Given the description of an element on the screen output the (x, y) to click on. 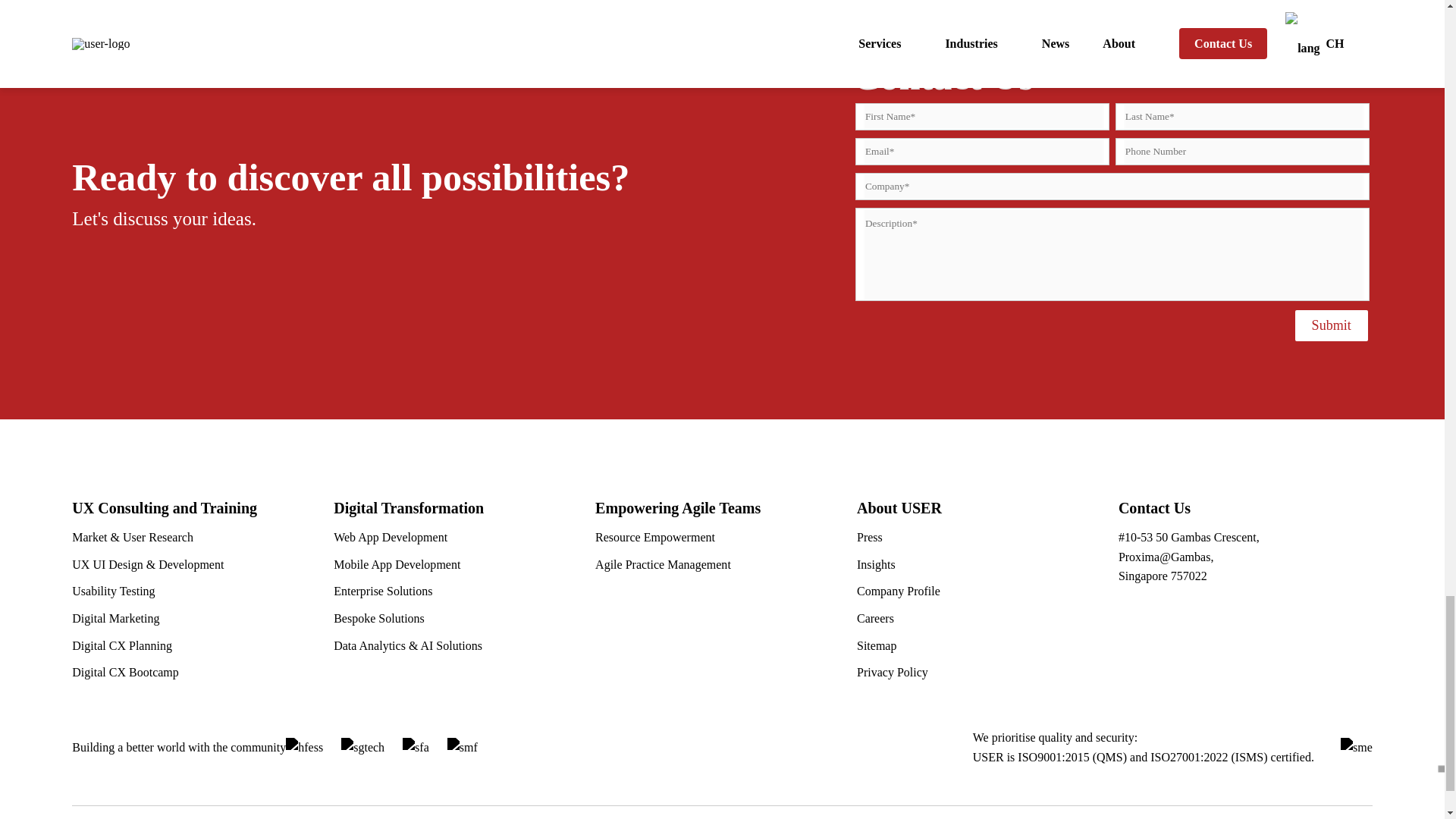
Submit (1332, 325)
Submit (1332, 325)
